Given the description of an element on the screen output the (x, y) to click on. 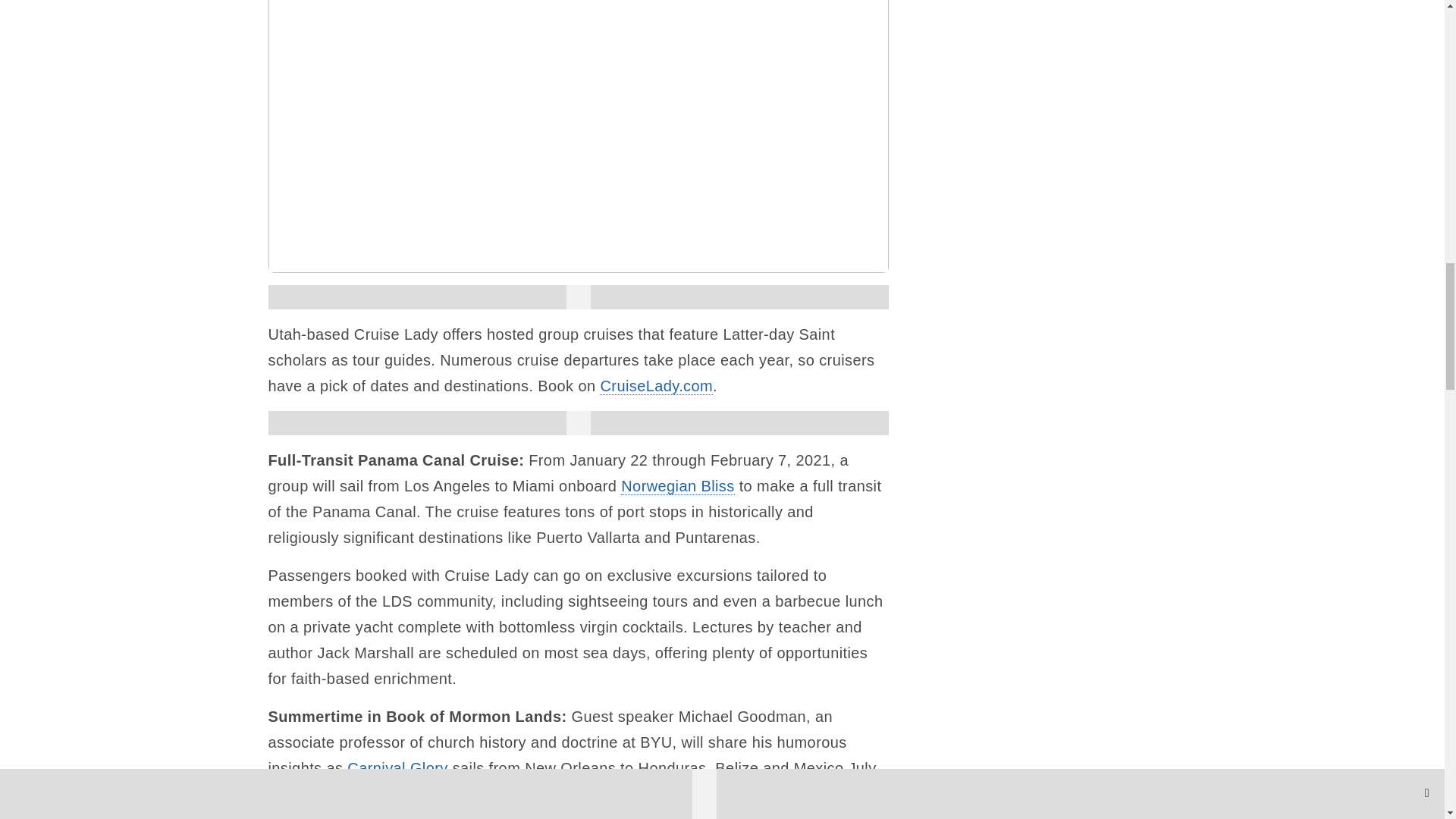
Norwegian Bliss (677, 486)
CruiseLady.com (656, 385)
Carnival Glory (396, 768)
